Given the description of an element on the screen output the (x, y) to click on. 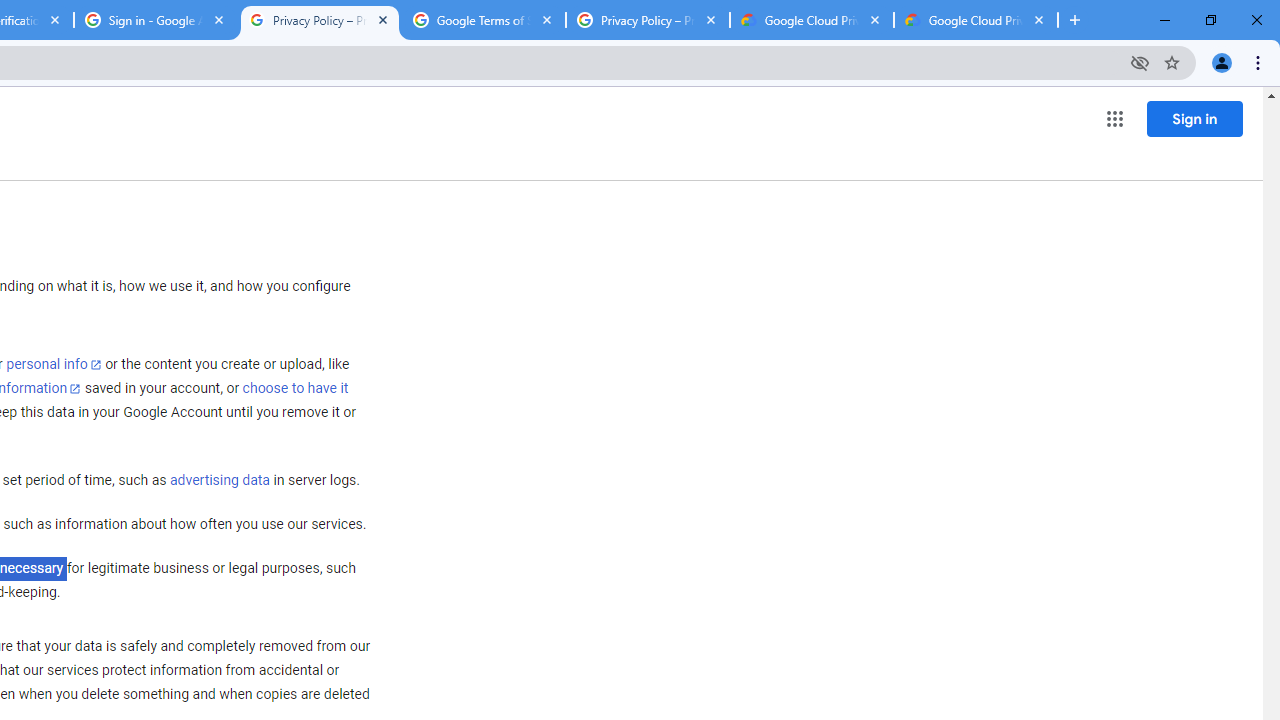
personal info (54, 364)
